Given the description of an element on the screen output the (x, y) to click on. 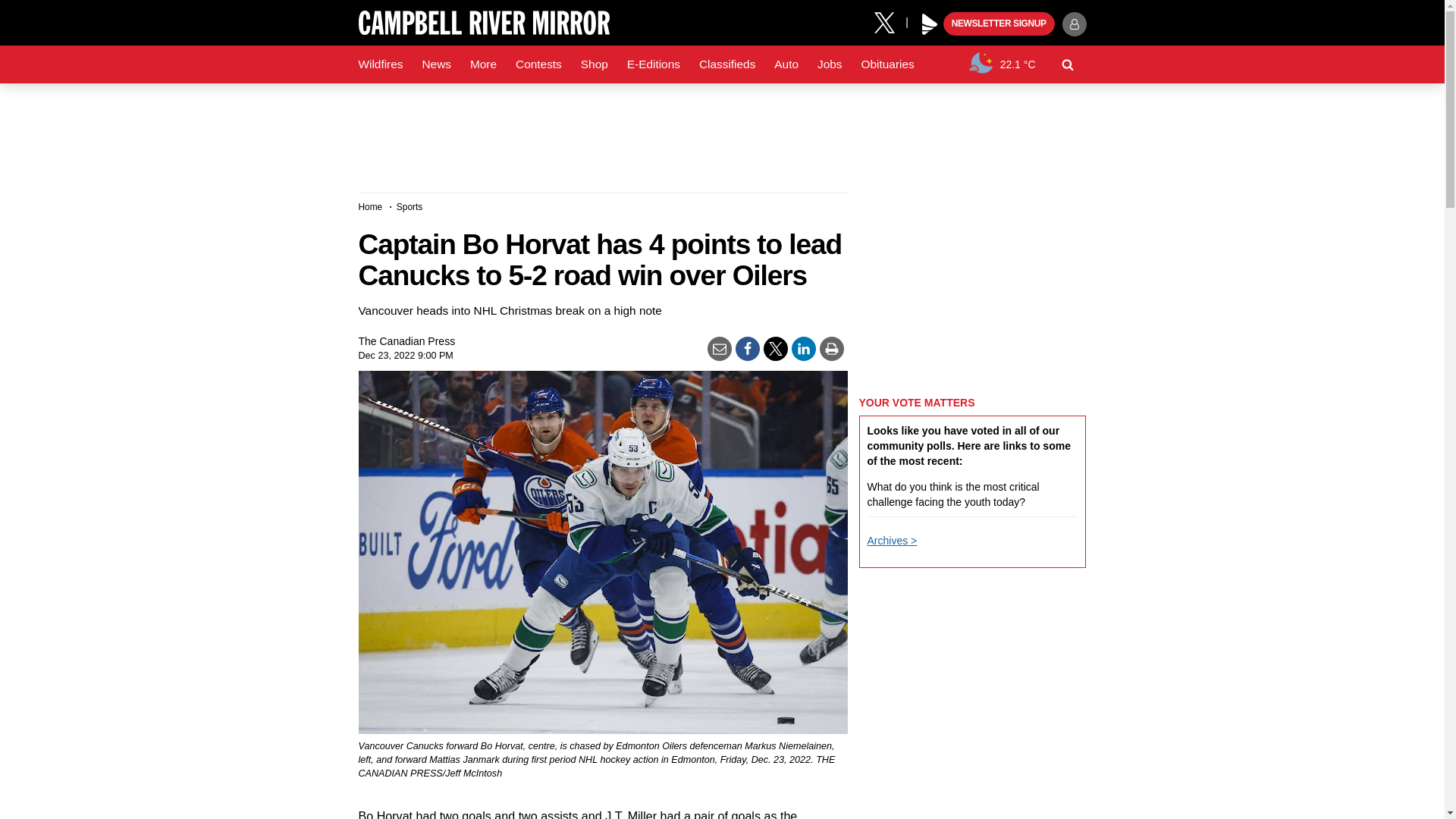
Play (929, 24)
Black Press Media (929, 24)
Wildfires (380, 64)
NEWSLETTER SIGNUP (998, 24)
News (435, 64)
X (889, 21)
